Given the description of an element on the screen output the (x, y) to click on. 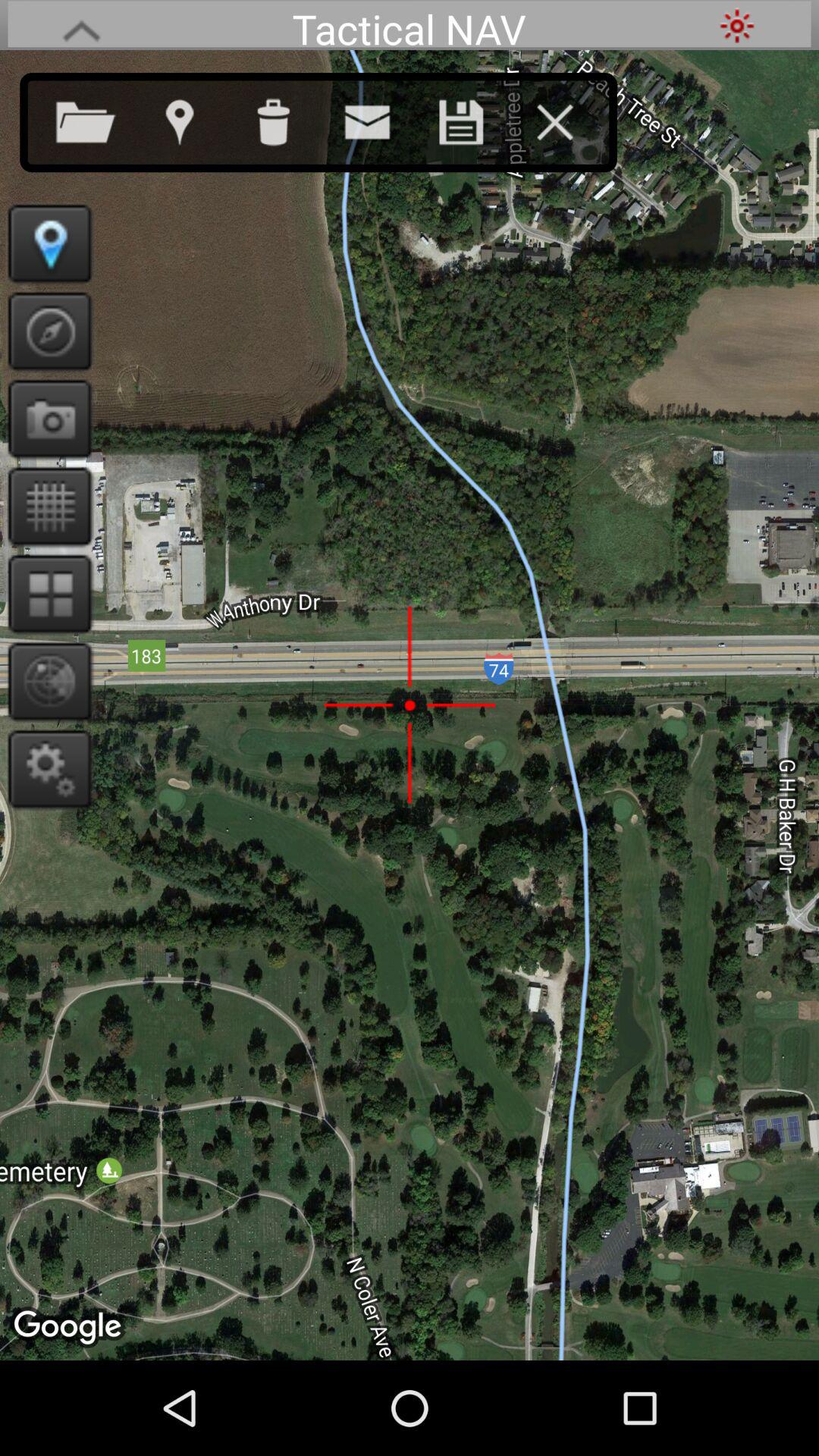
view removed items (288, 119)
